Given the description of an element on the screen output the (x, y) to click on. 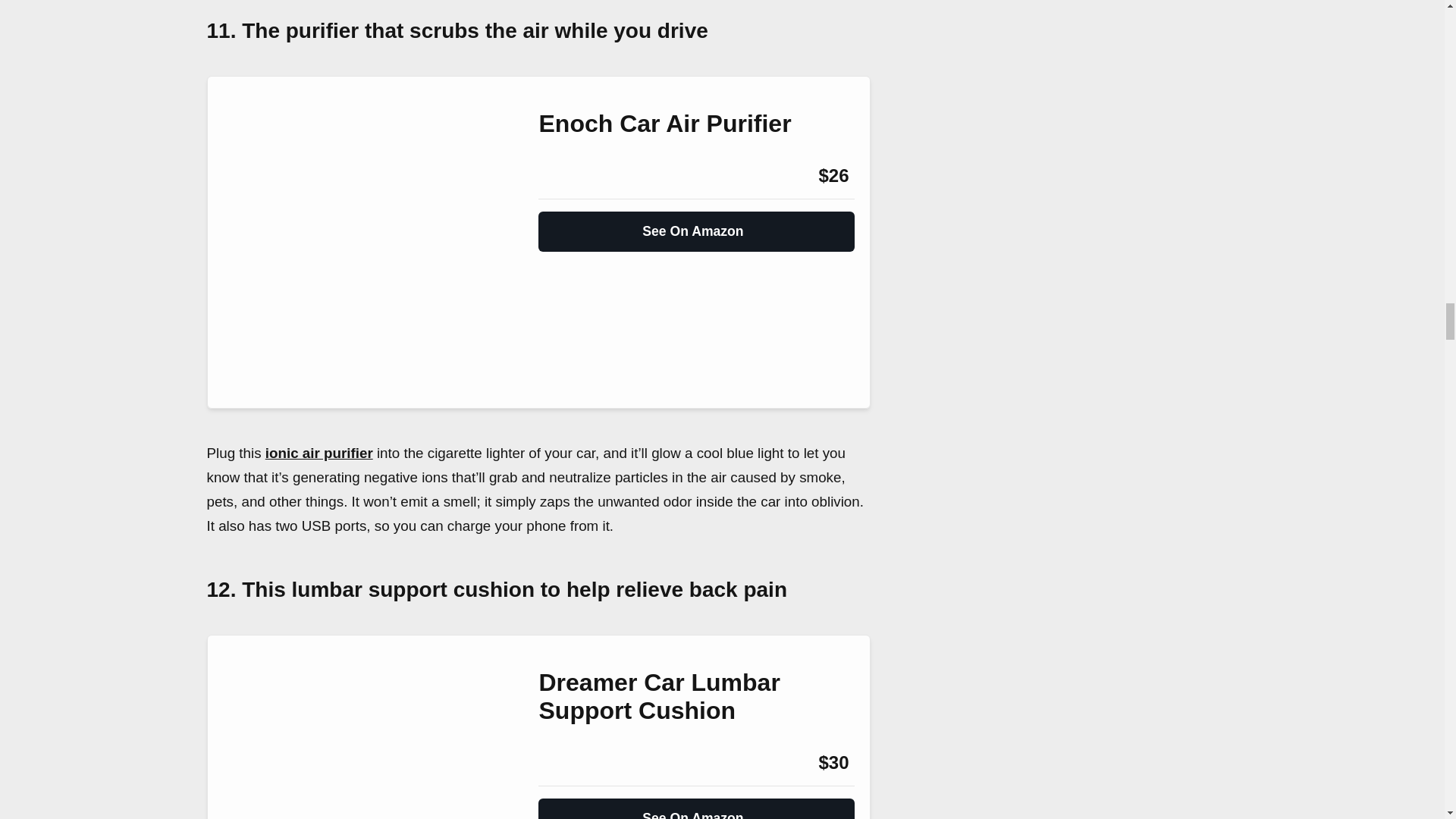
Amazon (579, 176)
Amazon (579, 762)
